Given the description of an element on the screen output the (x, y) to click on. 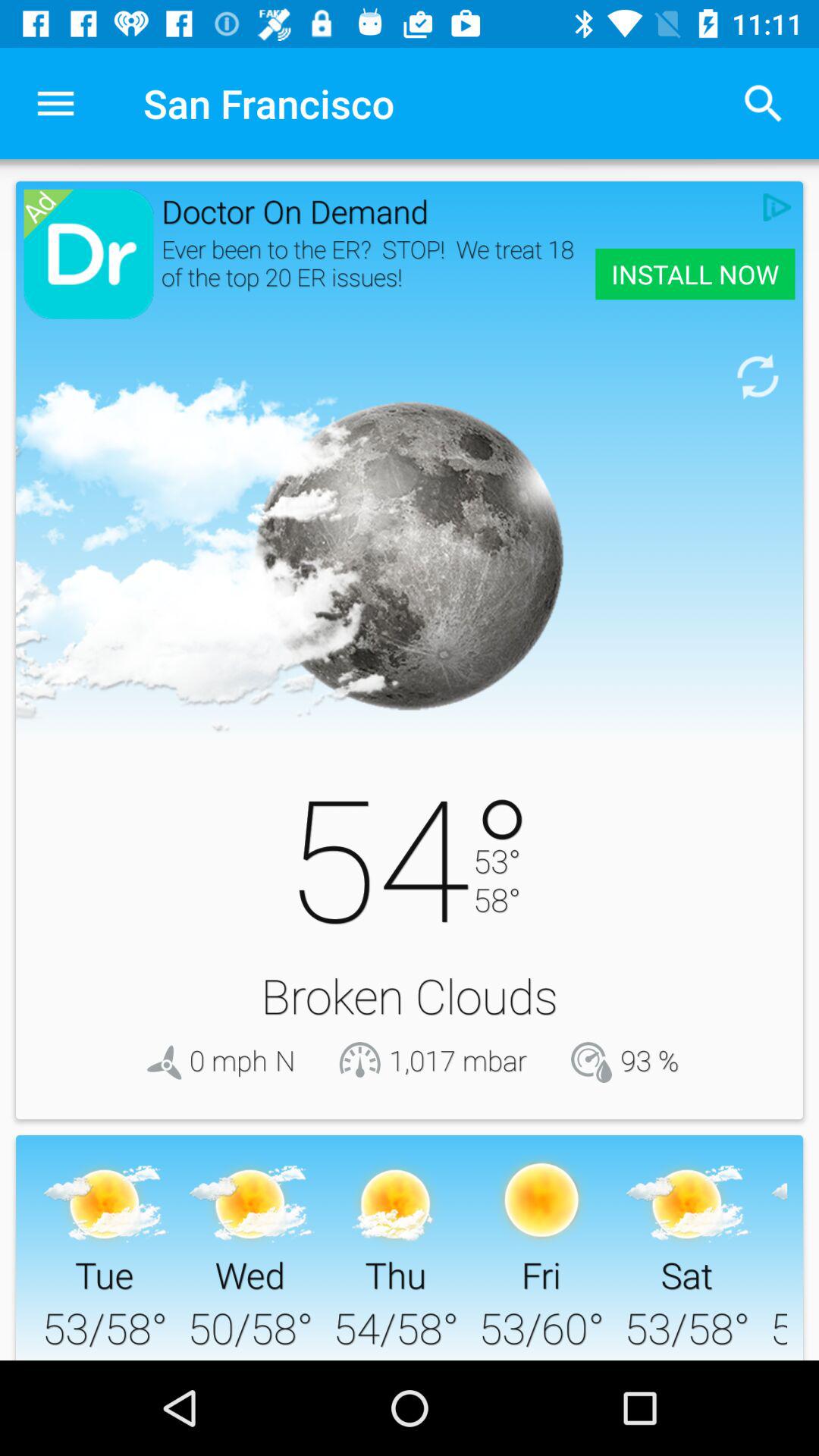
click item next to the san francisco item (763, 103)
